Given the description of an element on the screen output the (x, y) to click on. 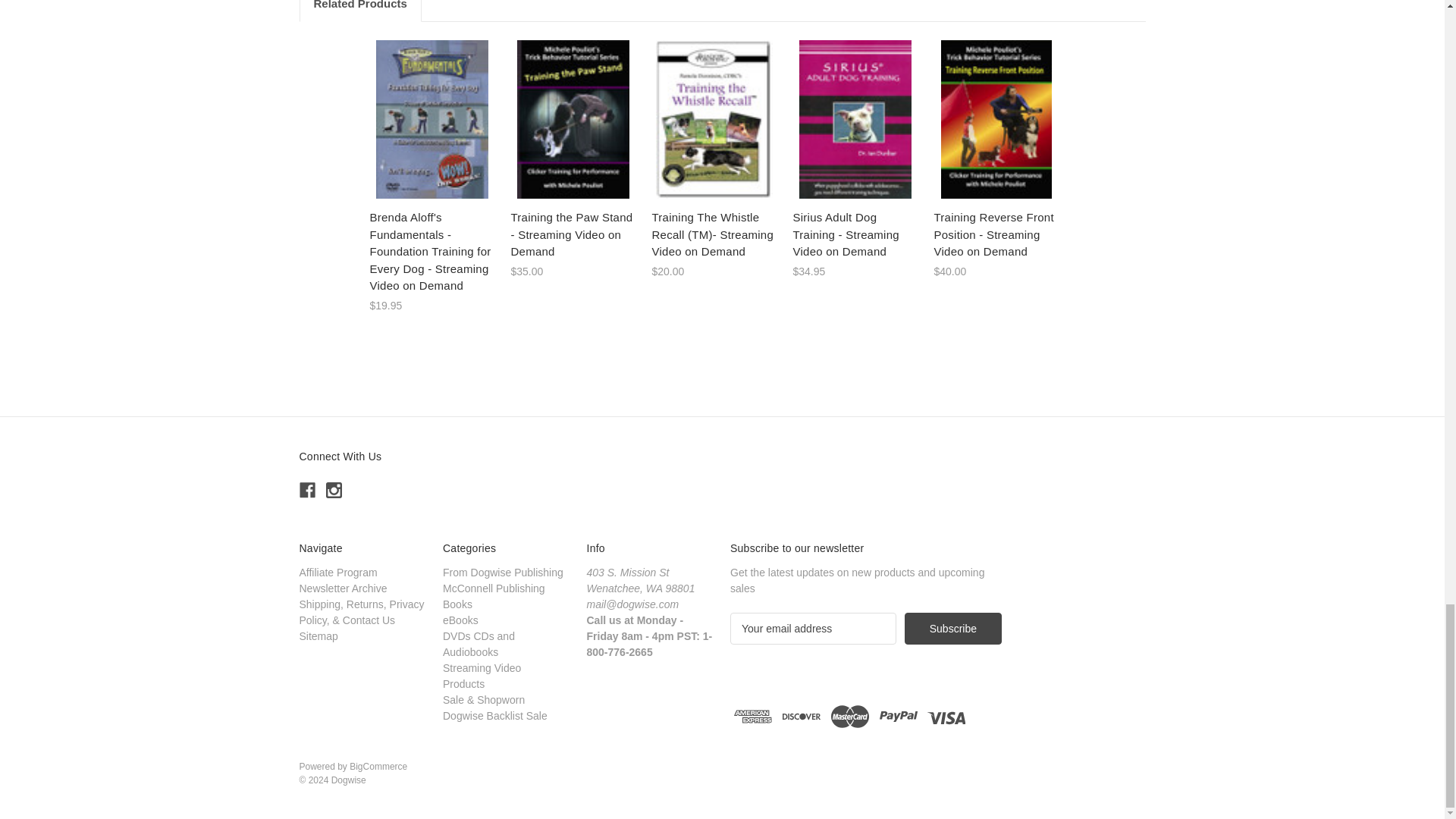
Instagram (334, 489)
Facebook (306, 489)
Subscribe (952, 628)
